Given the description of an element on the screen output the (x, y) to click on. 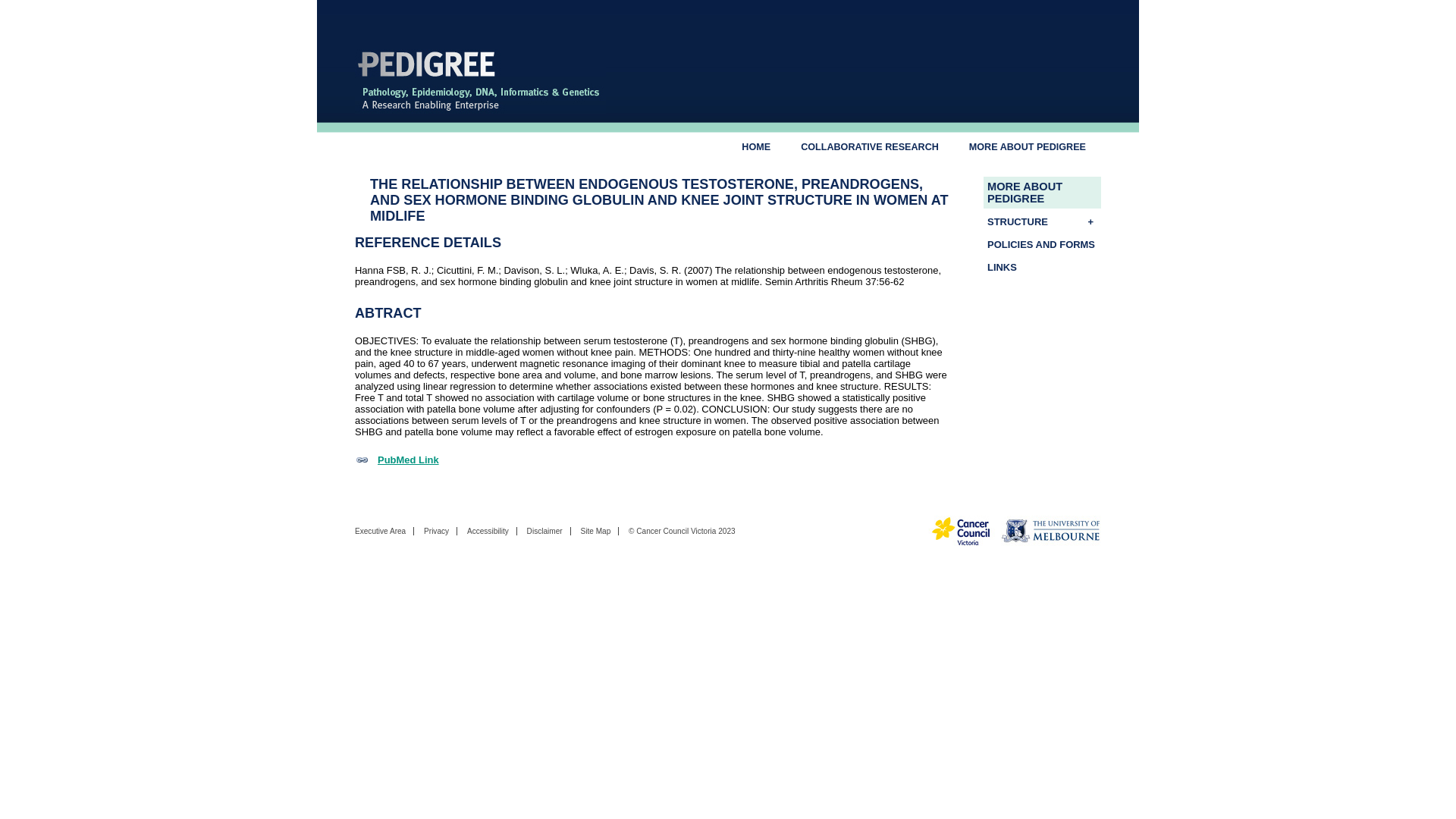
POLICIES AND FORMS (1042, 244)
Disclaimer (544, 531)
PubMed Link (397, 460)
Accessibility (487, 531)
Site Map (594, 531)
LINKS (1042, 266)
Privacy (435, 531)
MORE ABOUT PEDIGREE (1026, 146)
Cancer Council Victoria (676, 531)
HOME (756, 146)
MORE ABOUT PEDIGREE (1042, 192)
Return to the home page (480, 110)
COLLABORATIVE RESEARCH (869, 146)
Executive Area (380, 531)
